Given the description of an element on the screen output the (x, y) to click on. 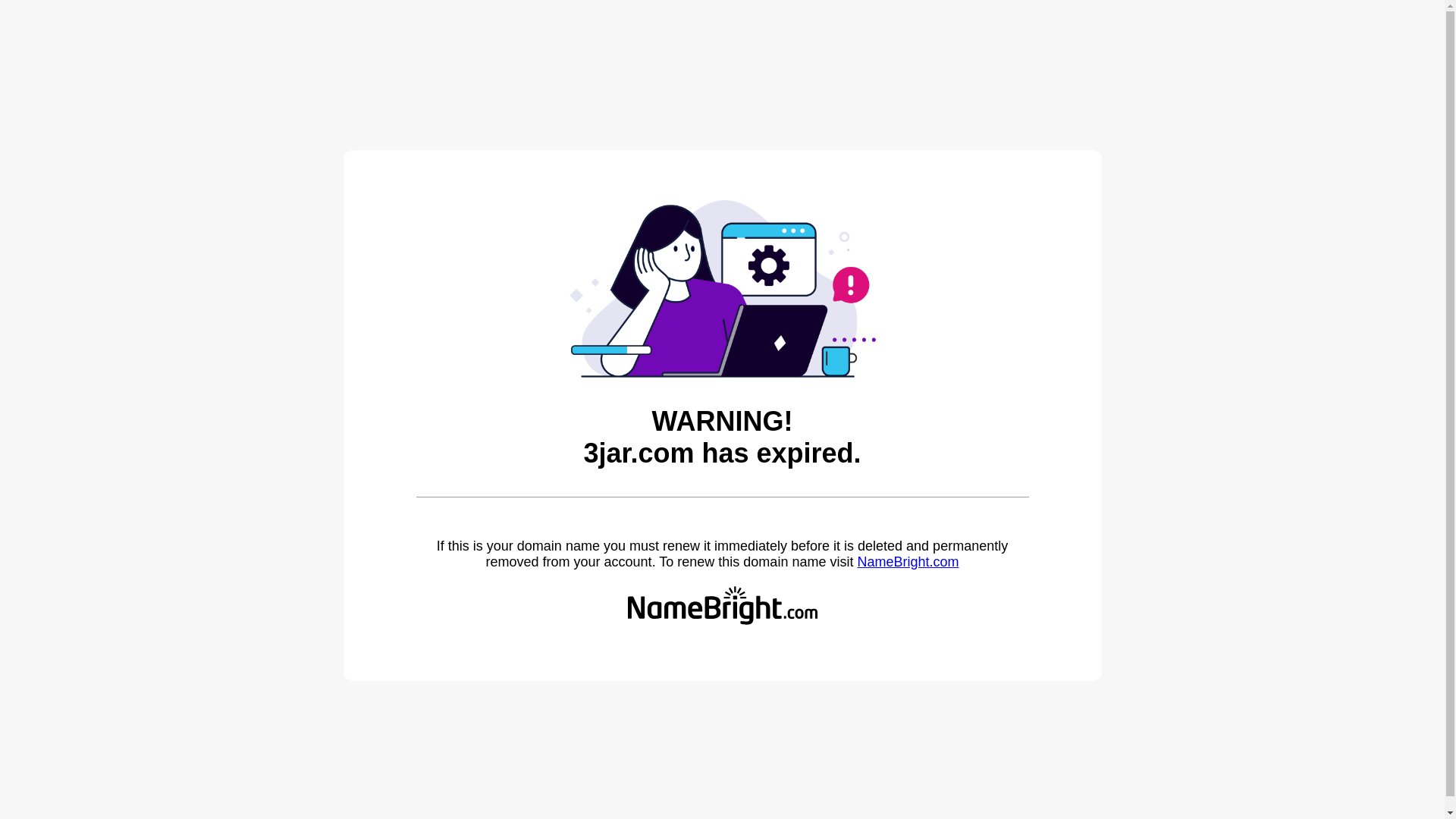
NameBright.com Element type: text (907, 561)
